Given the description of an element on the screen output the (x, y) to click on. 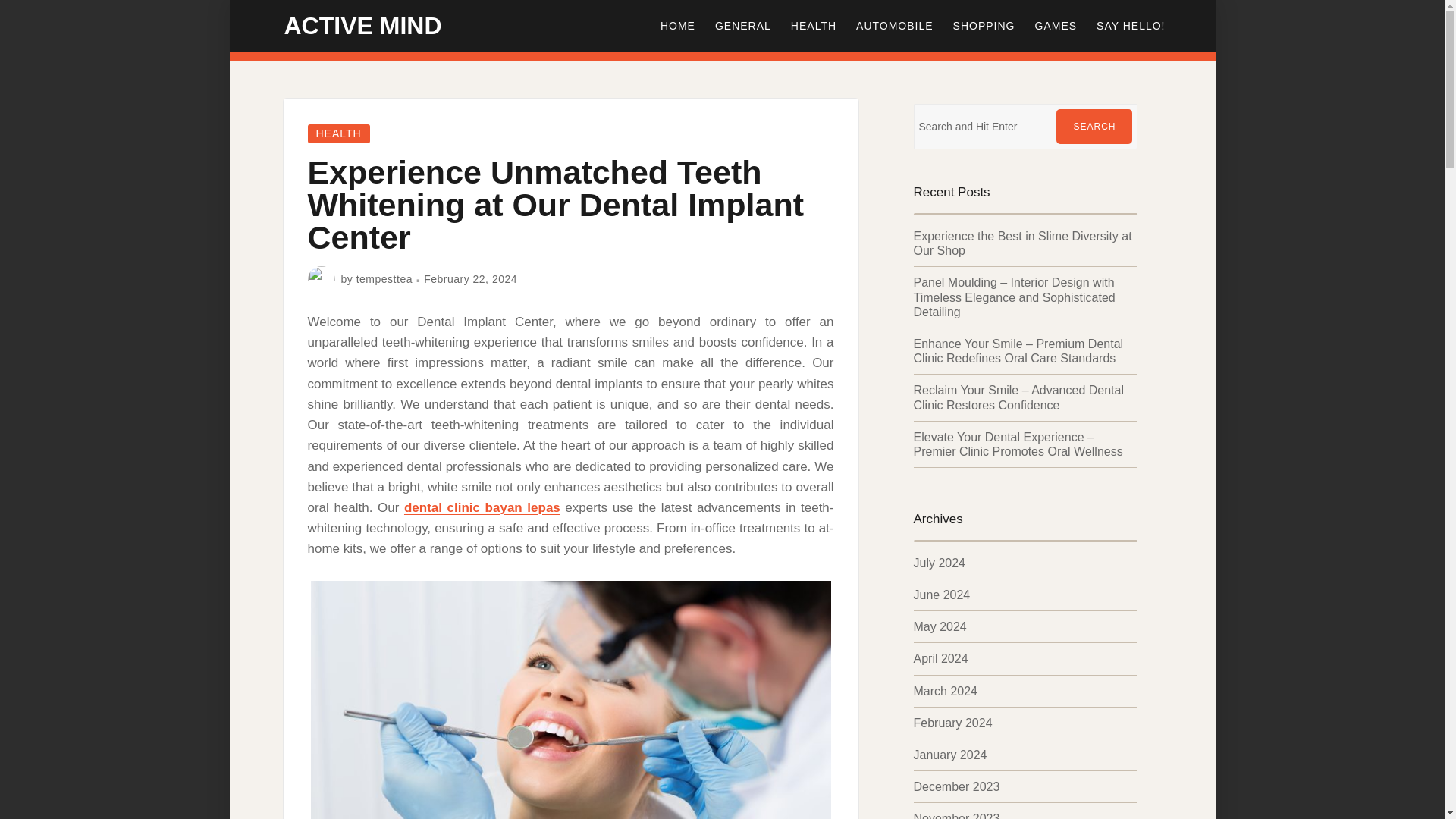
ACTIVE MIND (362, 25)
tempesttea (384, 278)
SEARCH (1094, 126)
April 2024 (940, 658)
SAY HELLO! (1130, 25)
May 2024 (939, 626)
HEALTH (338, 133)
Experience the Best in Slime Diversity at Our Shop (1021, 243)
January 2024 (949, 754)
GENERAL (742, 25)
HEALTH (812, 25)
SHOPPING (984, 25)
HOME (677, 25)
February 2024 (951, 722)
July 2024 (938, 562)
